Given the description of an element on the screen output the (x, y) to click on. 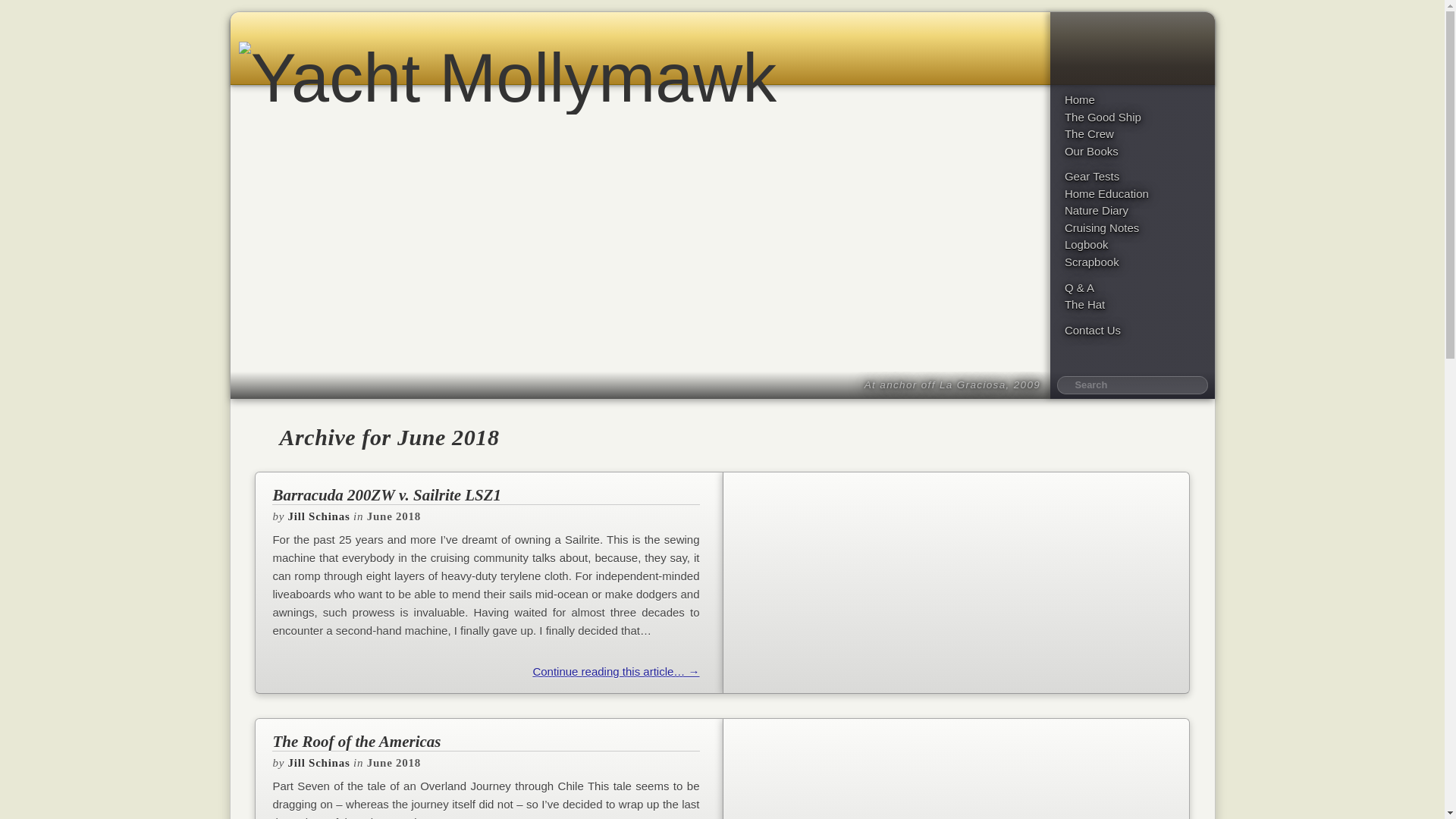
Barracuda 200ZW v. Sailrite LSZ1 (485, 495)
Jill Schinas (319, 762)
Posts by Jill Schinas (319, 762)
Jill Schinas (319, 516)
Posts by Jill Schinas (319, 516)
The Roof of the Americas (485, 741)
